Given the description of an element on the screen output the (x, y) to click on. 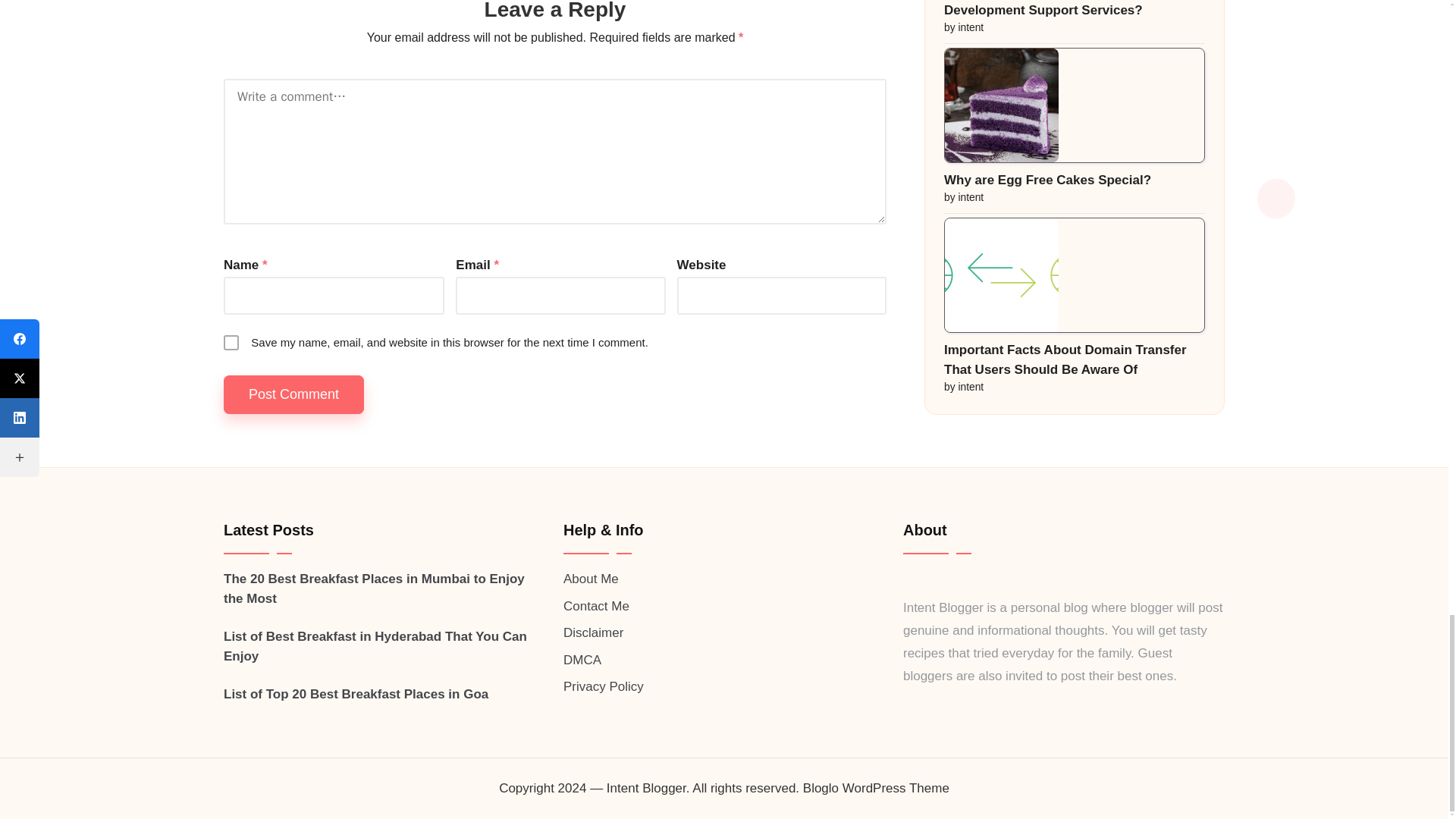
Post Comment (294, 394)
yes (231, 342)
